Given the description of an element on the screen output the (x, y) to click on. 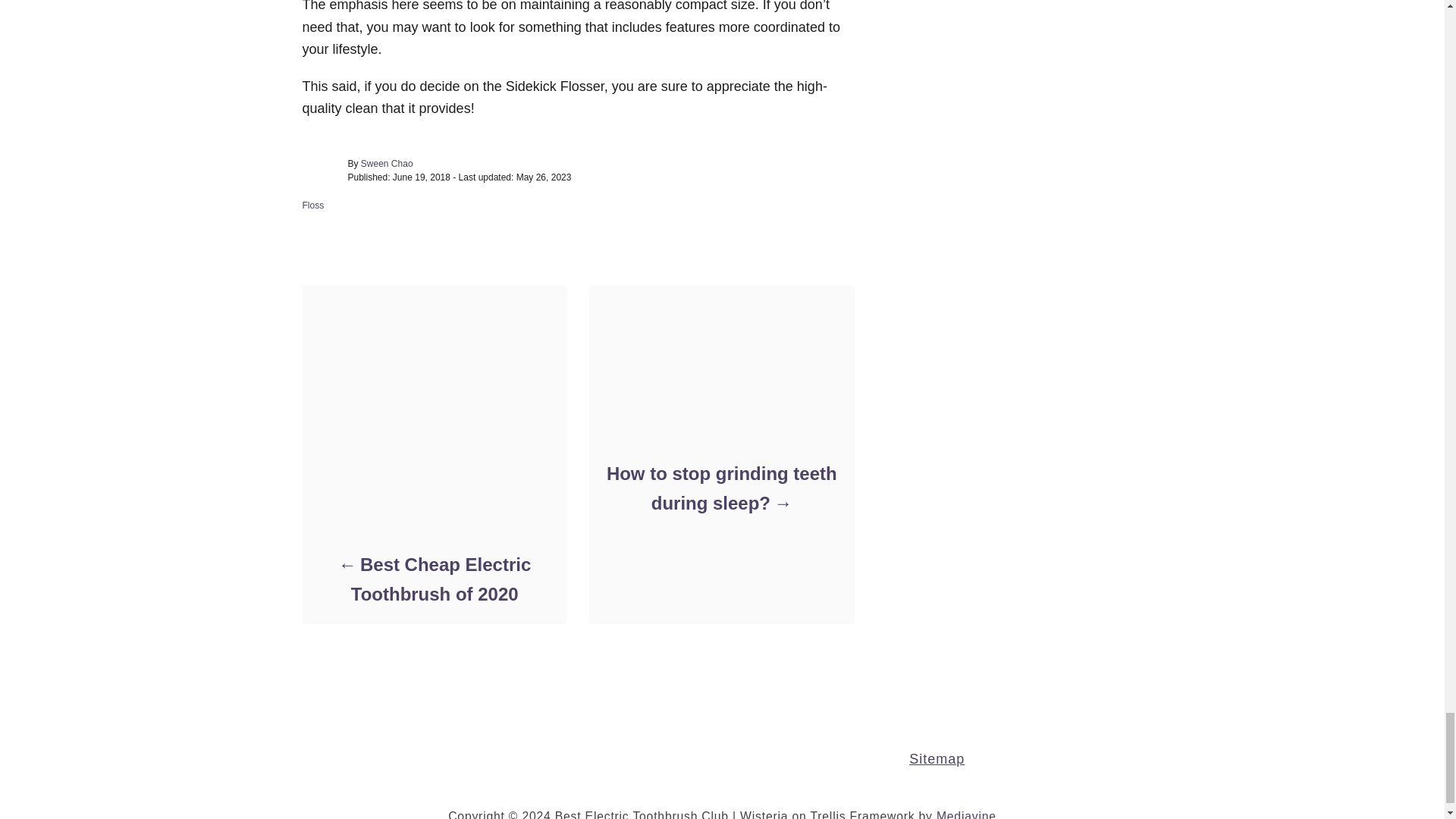
Best Cheap Electric Toothbrush of 2020 (434, 579)
Sitemap (935, 758)
Floss (312, 204)
Sween Chao (387, 163)
How to stop grinding teeth during sleep? (721, 487)
